Given the description of an element on the screen output the (x, y) to click on. 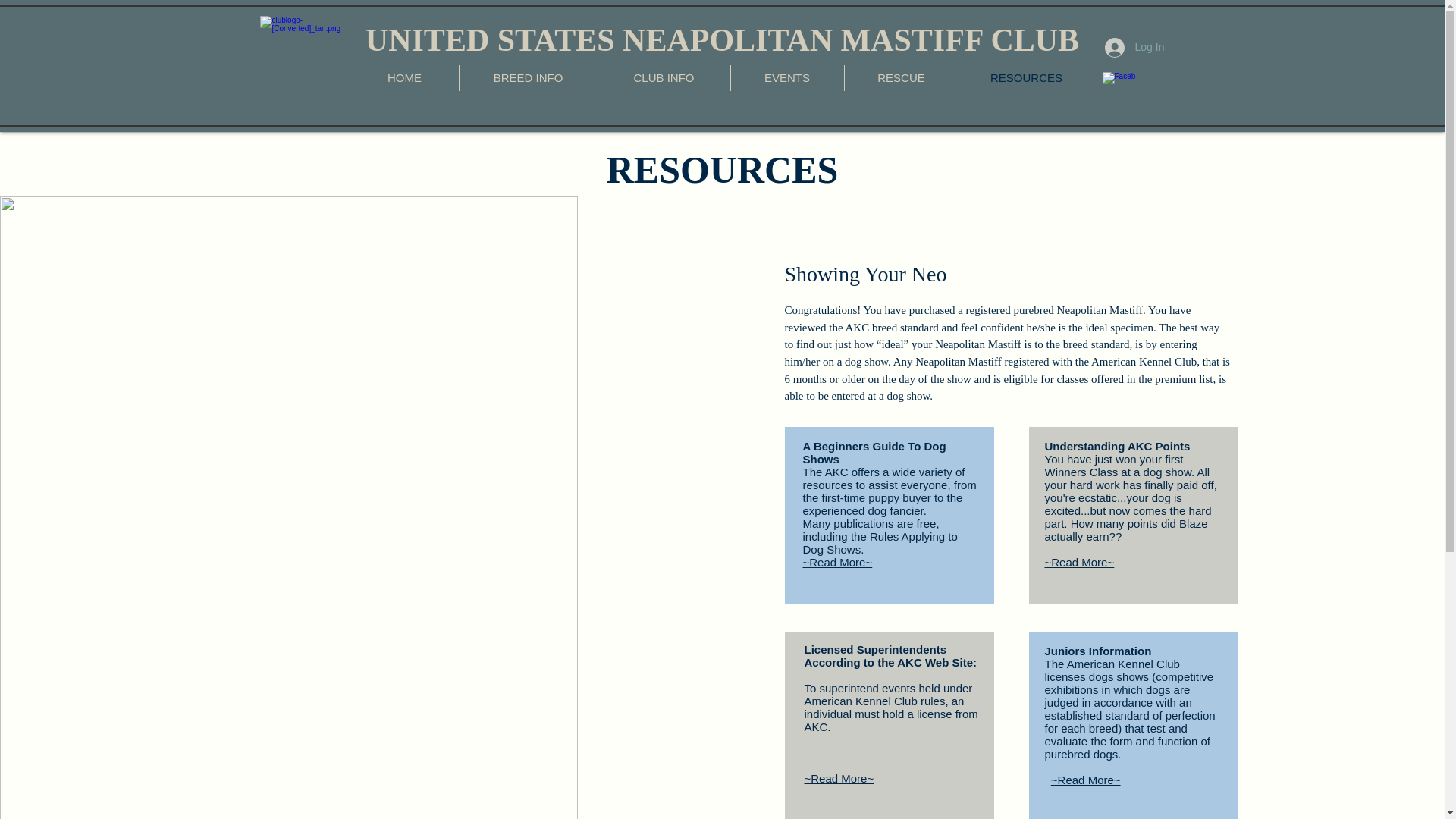
EVENTS (787, 77)
Log In (1116, 47)
HOME (404, 77)
CLUB INFO (662, 77)
RESCUE (901, 77)
RESOURCES (1025, 77)
UNITED STATES NEAPOLITAN MASTIFF CLUB (721, 39)
BREED INFO (528, 77)
